Given the description of an element on the screen output the (x, y) to click on. 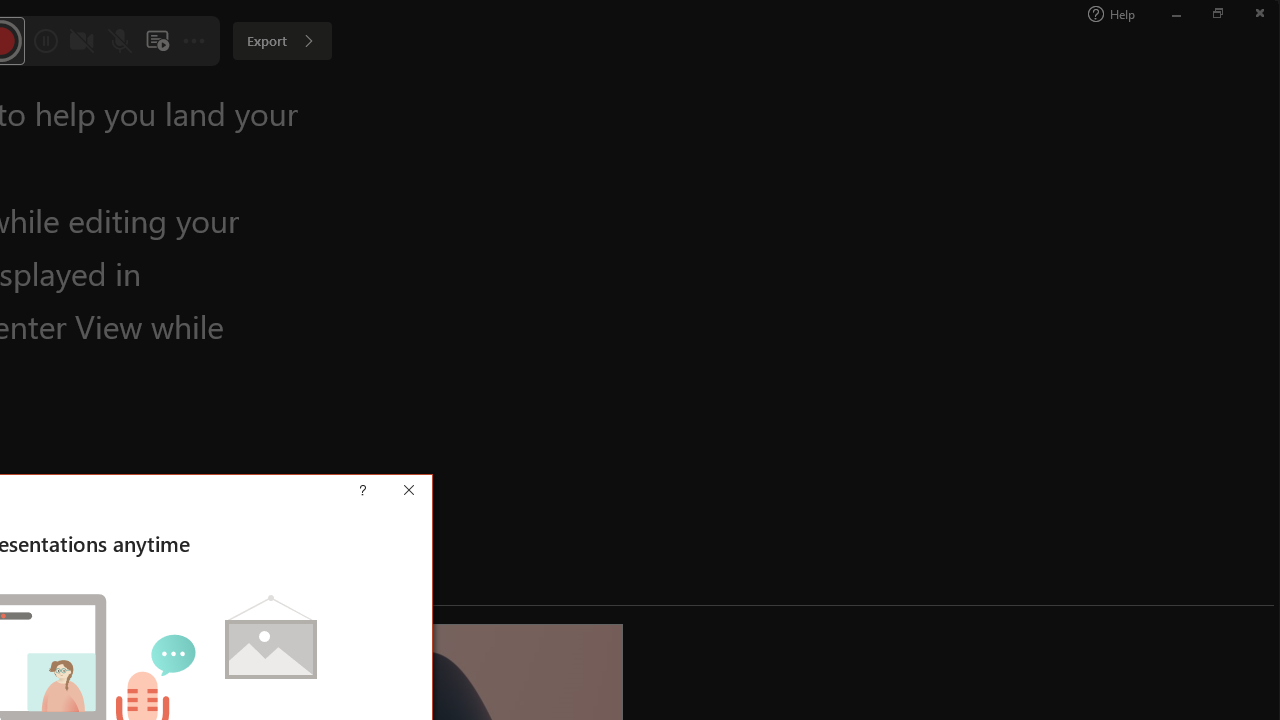
Circuit (79, 100)
Gallery (544, 100)
Integral Variant 1 (674, 100)
Integral Variant 2 (768, 100)
Format Background (1111, 102)
Frame (450, 100)
Integral Variant 3 (861, 100)
Variants (1009, 120)
Integral Variant 4 (953, 100)
